Given the description of an element on the screen output the (x, y) to click on. 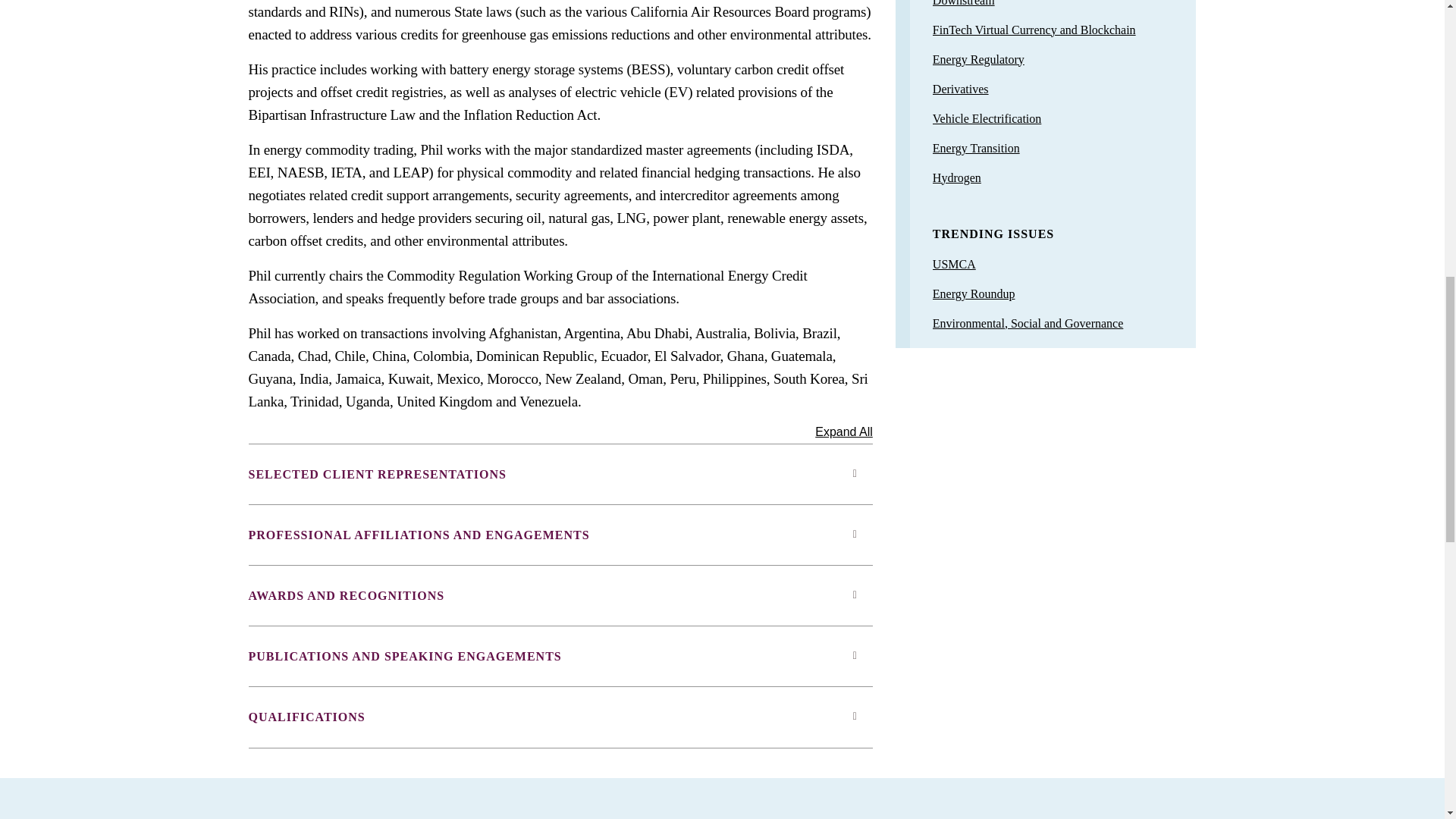
Downstream (963, 3)
Hydrogen (957, 177)
FinTech Virtual Currency and Blockchain (1034, 29)
PROFESSIONAL AFFILIATIONS AND ENGAGEMENTS (560, 535)
Energy Transition (976, 146)
QUALIFICATIONS (560, 717)
USMCA (954, 264)
SELECTED CLIENT REPRESENTATIONS (560, 474)
Vehicle Electrification (987, 118)
PUBLICATIONS AND SPEAKING ENGAGEMENTS (560, 656)
Expand All (843, 428)
Derivatives (960, 88)
Energy Regulatory (979, 59)
AWARDS AND RECOGNITIONS (560, 595)
